Given the description of an element on the screen output the (x, y) to click on. 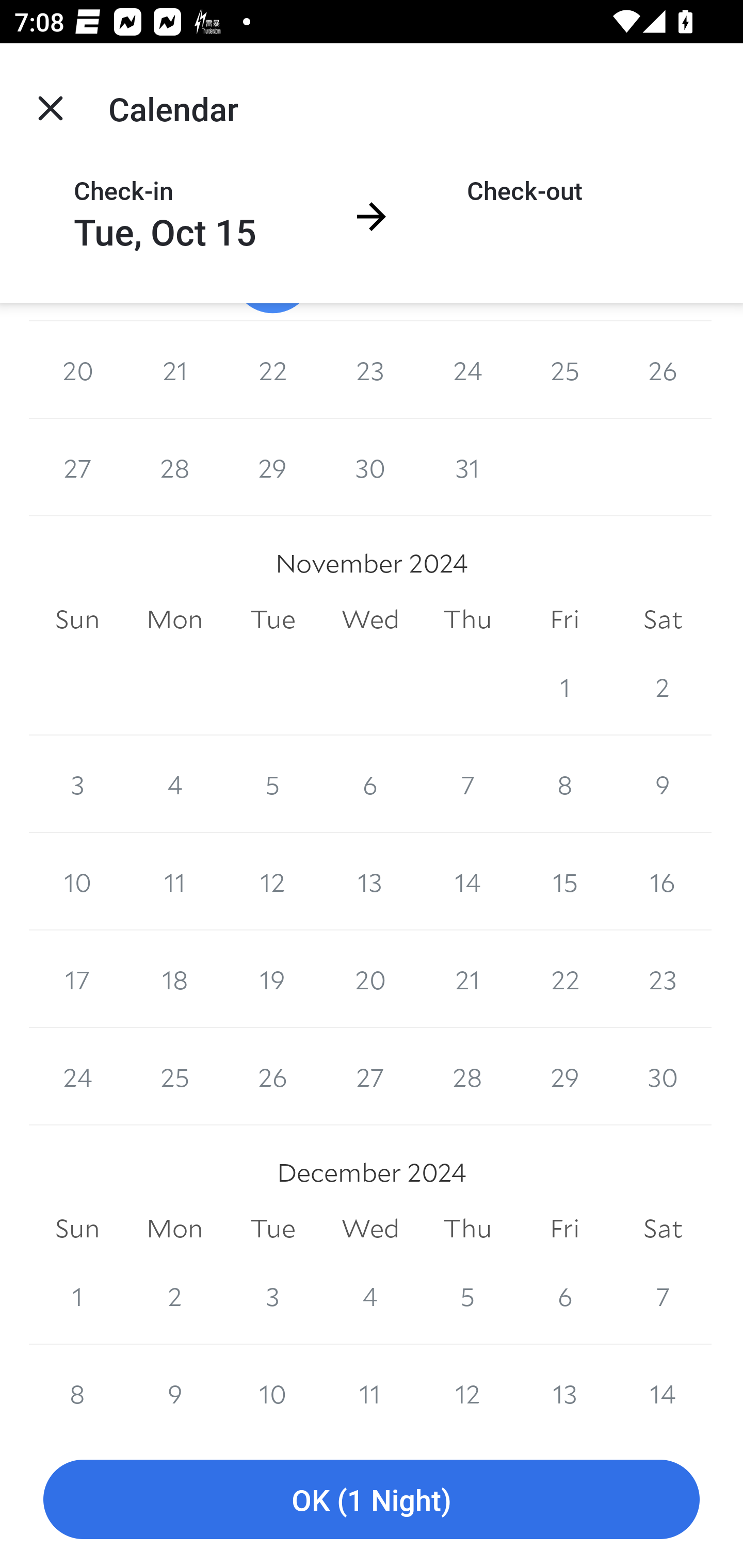
20 20 October 2024 (77, 369)
21 21 October 2024 (174, 369)
22 22 October 2024 (272, 369)
23 23 October 2024 (370, 369)
24 24 October 2024 (467, 369)
25 25 October 2024 (564, 369)
26 26 October 2024 (662, 369)
27 27 October 2024 (77, 466)
28 28 October 2024 (174, 466)
29 29 October 2024 (272, 466)
30 30 October 2024 (370, 466)
31 31 October 2024 (467, 466)
Sun (77, 619)
Mon (174, 619)
Tue (272, 619)
Wed (370, 619)
Thu (467, 619)
Fri (564, 619)
Sat (662, 619)
1 1 November 2024 (564, 686)
2 2 November 2024 (662, 686)
3 3 November 2024 (77, 783)
4 4 November 2024 (174, 783)
5 5 November 2024 (272, 783)
6 6 November 2024 (370, 783)
7 7 November 2024 (467, 783)
8 8 November 2024 (564, 783)
9 9 November 2024 (662, 783)
10 10 November 2024 (77, 880)
11 11 November 2024 (174, 880)
12 12 November 2024 (272, 880)
13 13 November 2024 (370, 880)
14 14 November 2024 (467, 880)
15 15 November 2024 (564, 880)
16 16 November 2024 (662, 880)
17 17 November 2024 (77, 978)
18 18 November 2024 (174, 978)
19 19 November 2024 (272, 978)
20 20 November 2024 (370, 978)
21 21 November 2024 (467, 978)
22 22 November 2024 (564, 978)
23 23 November 2024 (662, 978)
24 24 November 2024 (77, 1076)
25 25 November 2024 (174, 1076)
26 26 November 2024 (272, 1076)
27 27 November 2024 (370, 1076)
28 28 November 2024 (467, 1076)
29 29 November 2024 (564, 1076)
30 30 November 2024 (662, 1076)
